Given the description of an element on the screen output the (x, y) to click on. 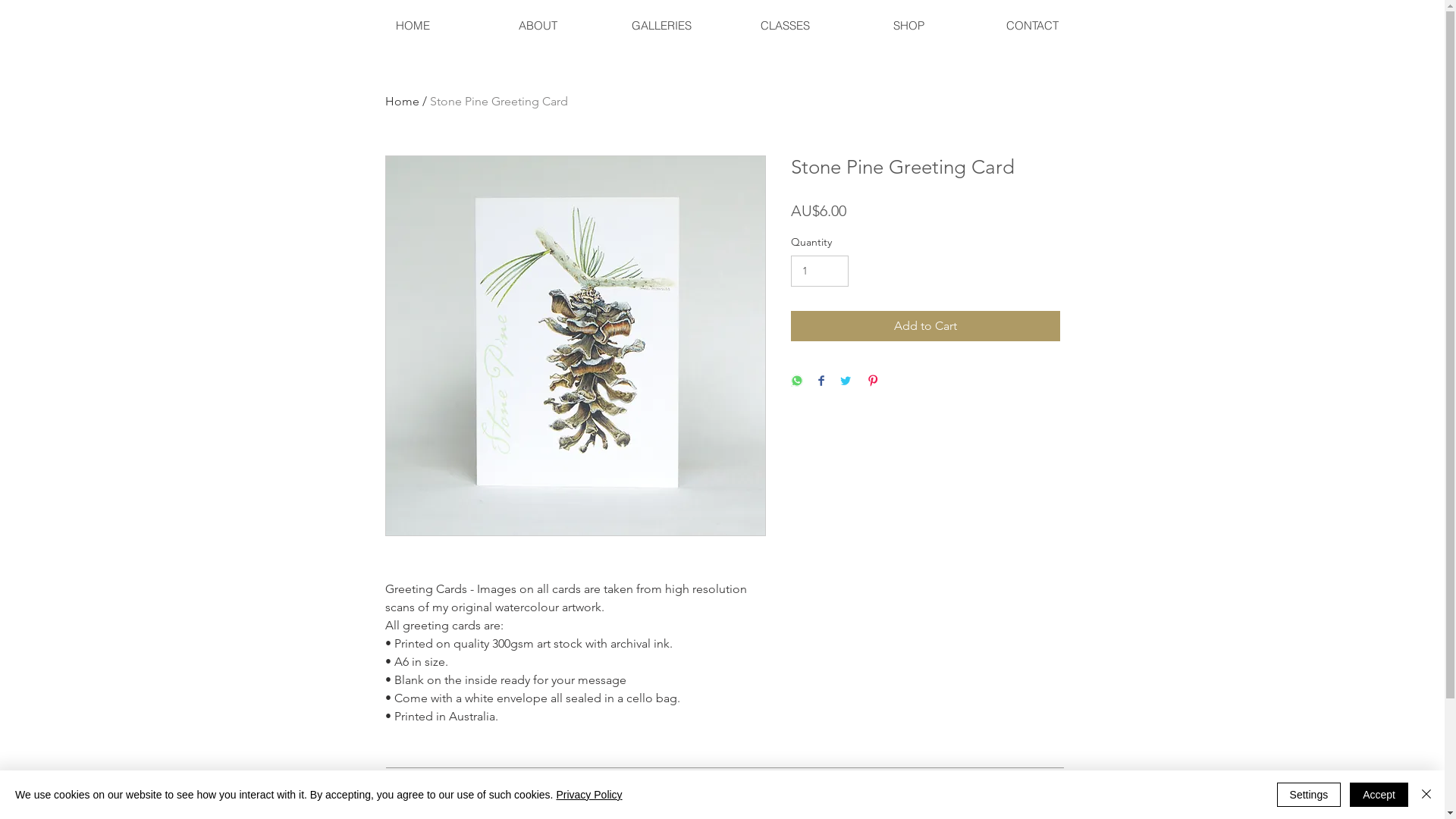
Stone Pine Greeting Card Element type: text (498, 101)
CLASSES Element type: text (785, 25)
SHOP Element type: text (907, 25)
HOME Element type: text (412, 25)
Settings Element type: text (1309, 794)
Privacy Policy Element type: text (588, 794)
Home Element type: text (402, 101)
Add to Cart Element type: text (924, 325)
GALLERIES Element type: text (660, 25)
ABOUT Element type: text (536, 25)
Accept Element type: text (1378, 794)
DR Element type: text (23, 24)
CONTACT Element type: text (1032, 25)
